Given the description of an element on the screen output the (x, y) to click on. 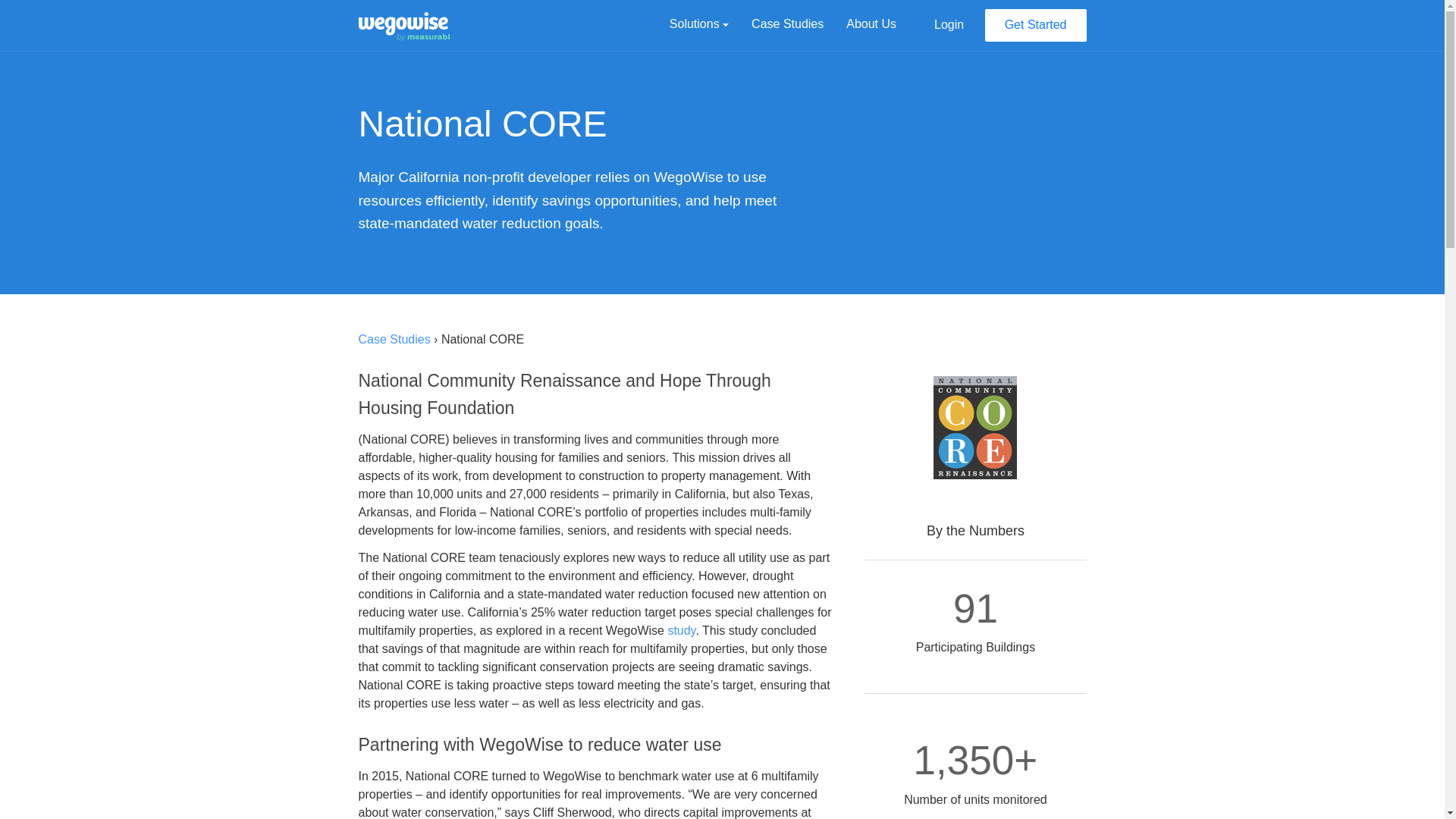
Careers (889, 615)
Case Studies (786, 23)
Financial Impact of Energy and Water Savings (1020, 691)
study (680, 630)
Overview (758, 592)
WegoPremium (627, 615)
API (1020, 721)
Utility Coverage (1020, 767)
Get Started (1035, 25)
Case Studies (393, 338)
Green Financing (758, 638)
Login (949, 24)
Overview (627, 592)
Contact (1020, 592)
WegoPro (627, 638)
